Given the description of an element on the screen output the (x, y) to click on. 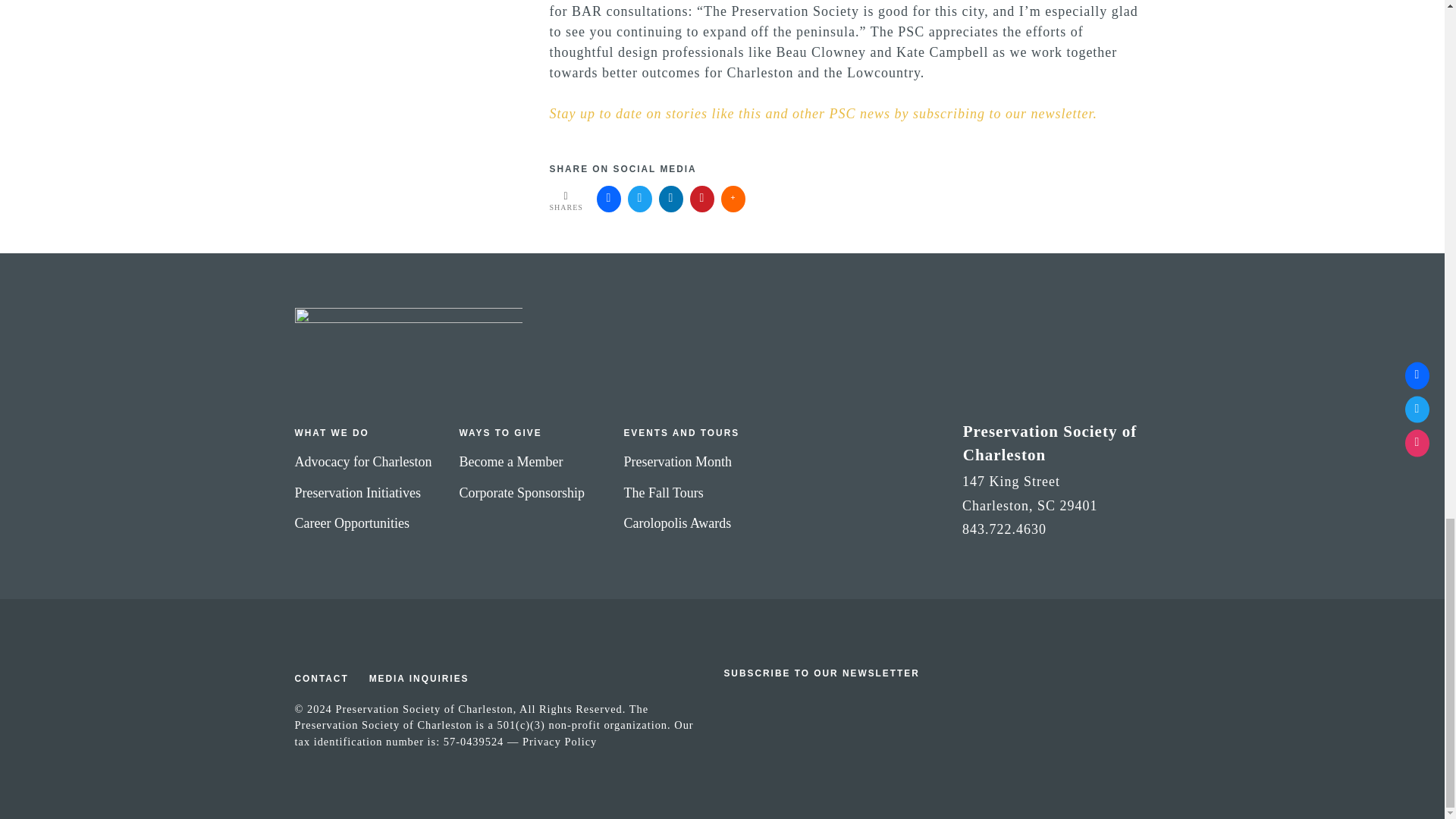
More share links (732, 198)
Add this to LinkedIn (670, 198)
